Given the description of an element on the screen output the (x, y) to click on. 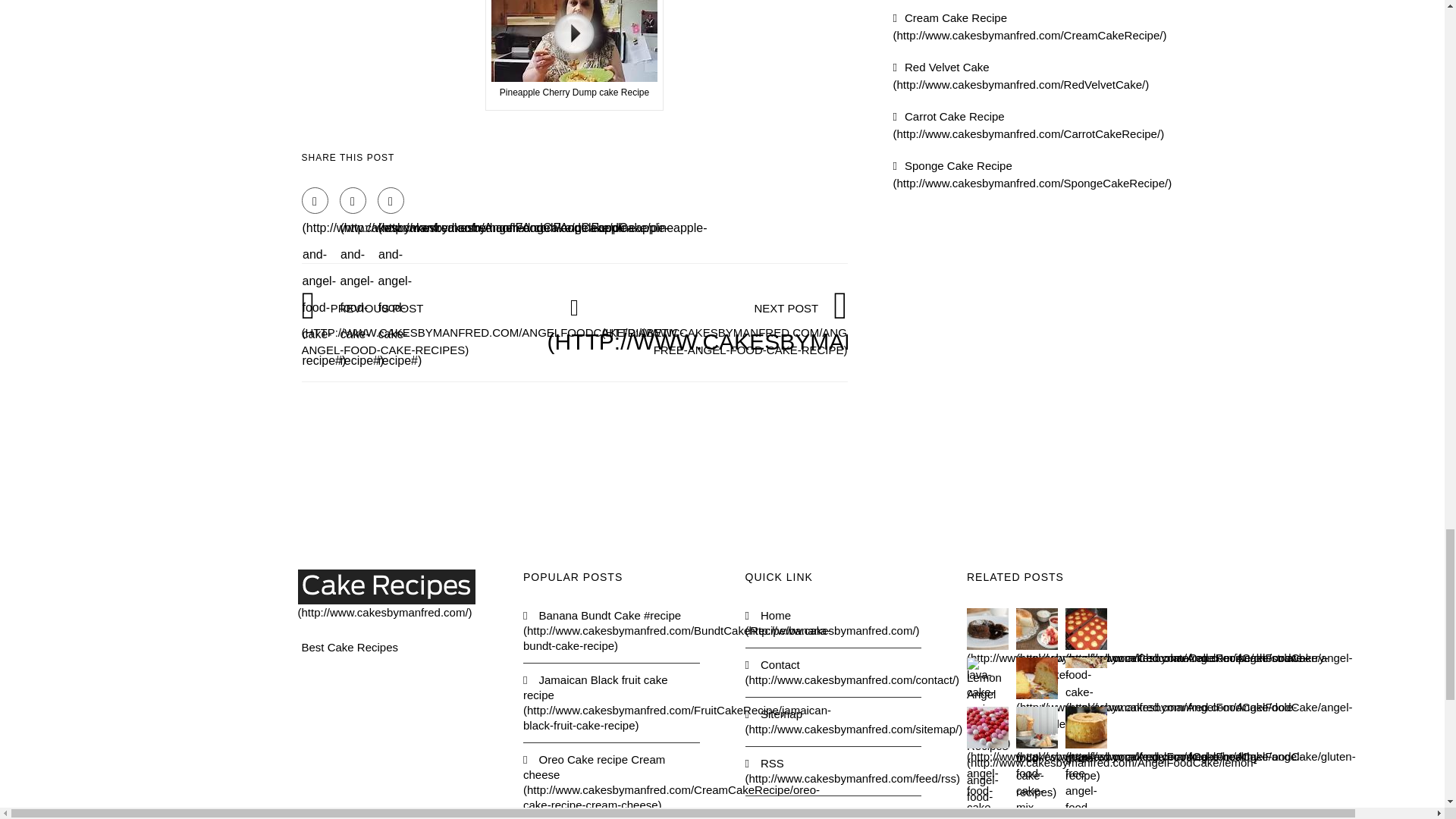
NEXT POST (790, 328)
Google Plus (390, 200)
Twitter (352, 200)
PREVIOUS POST (492, 328)
Facebook (315, 200)
View this video from YouTube (573, 55)
